Given the description of an element on the screen output the (x, y) to click on. 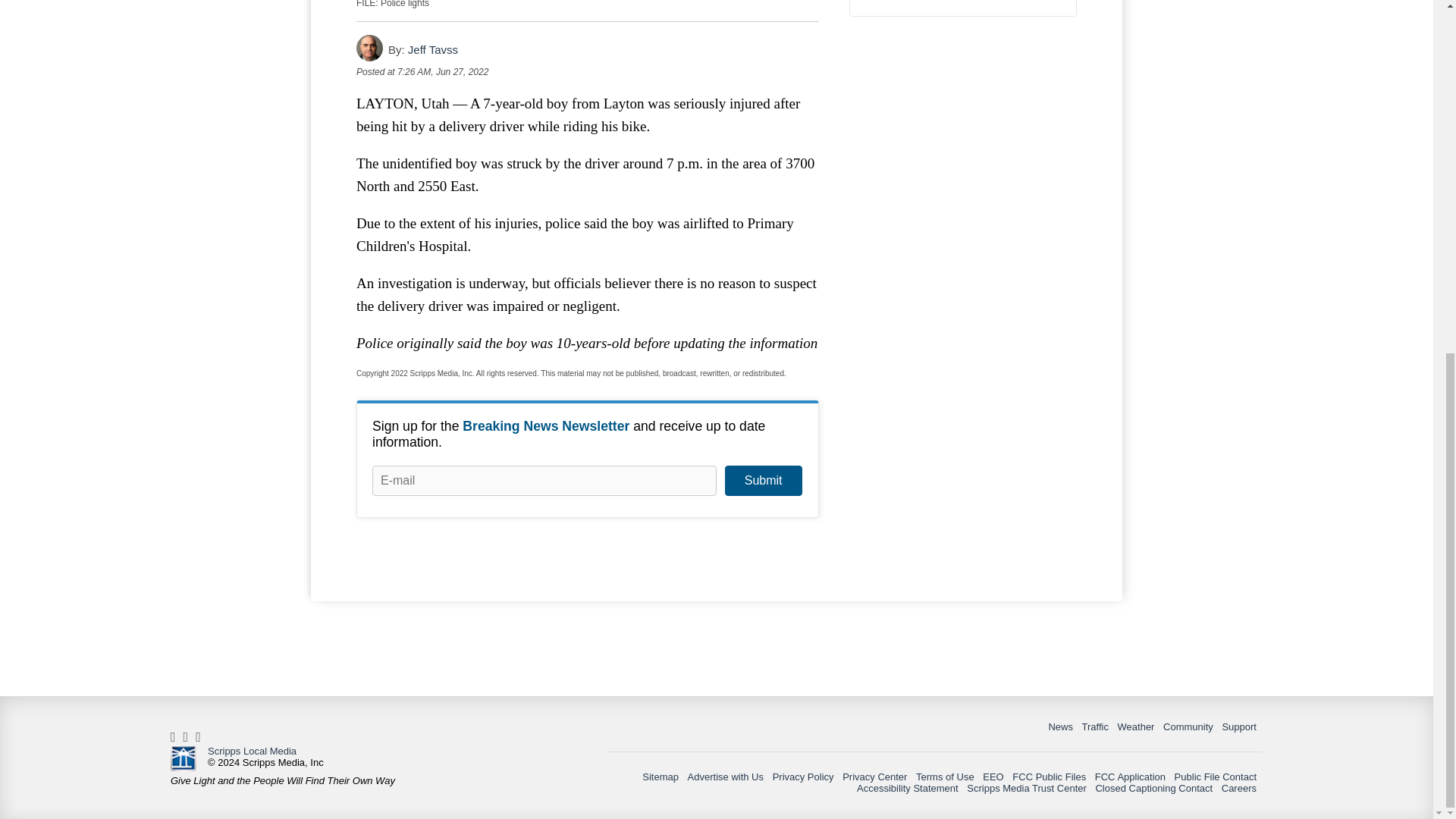
Submit (763, 481)
